Given the description of an element on the screen output the (x, y) to click on. 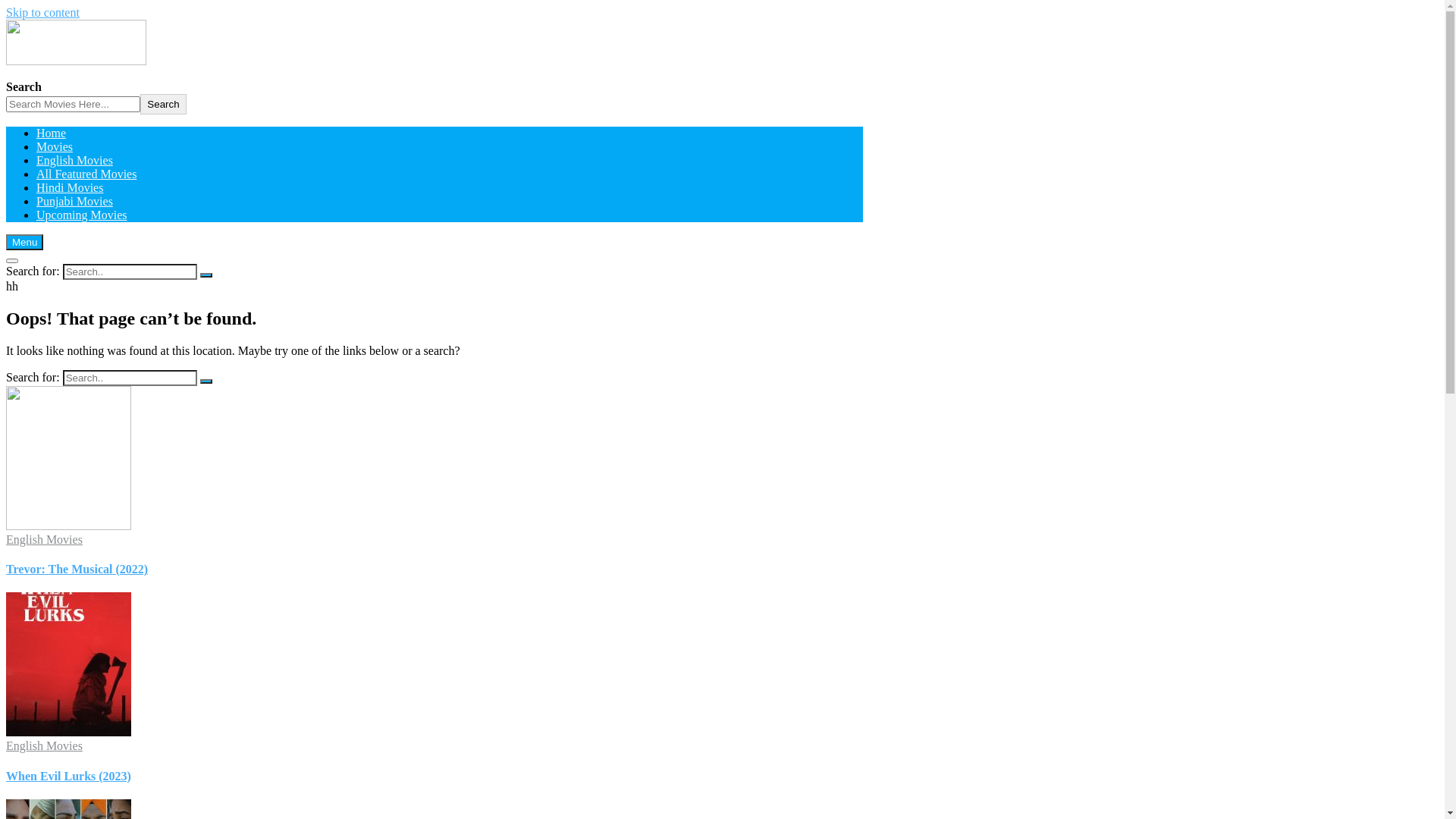
Trevor: The Musical (2022) Element type: text (76, 568)
Skip to content Element type: text (42, 12)
English Movies Element type: text (44, 745)
Menu Element type: text (24, 242)
Punjabi Movies Element type: text (74, 200)
Home Element type: text (50, 132)
Upcoming Movies Element type: text (81, 214)
When Evil Lurks (2023) Element type: text (68, 775)
English Movies Element type: text (74, 159)
Movies Element type: text (54, 146)
All Featured Movies Element type: text (86, 173)
English Movies Element type: text (44, 539)
Hindi Movies Element type: text (69, 187)
Search Element type: text (163, 104)
